Given the description of an element on the screen output the (x, y) to click on. 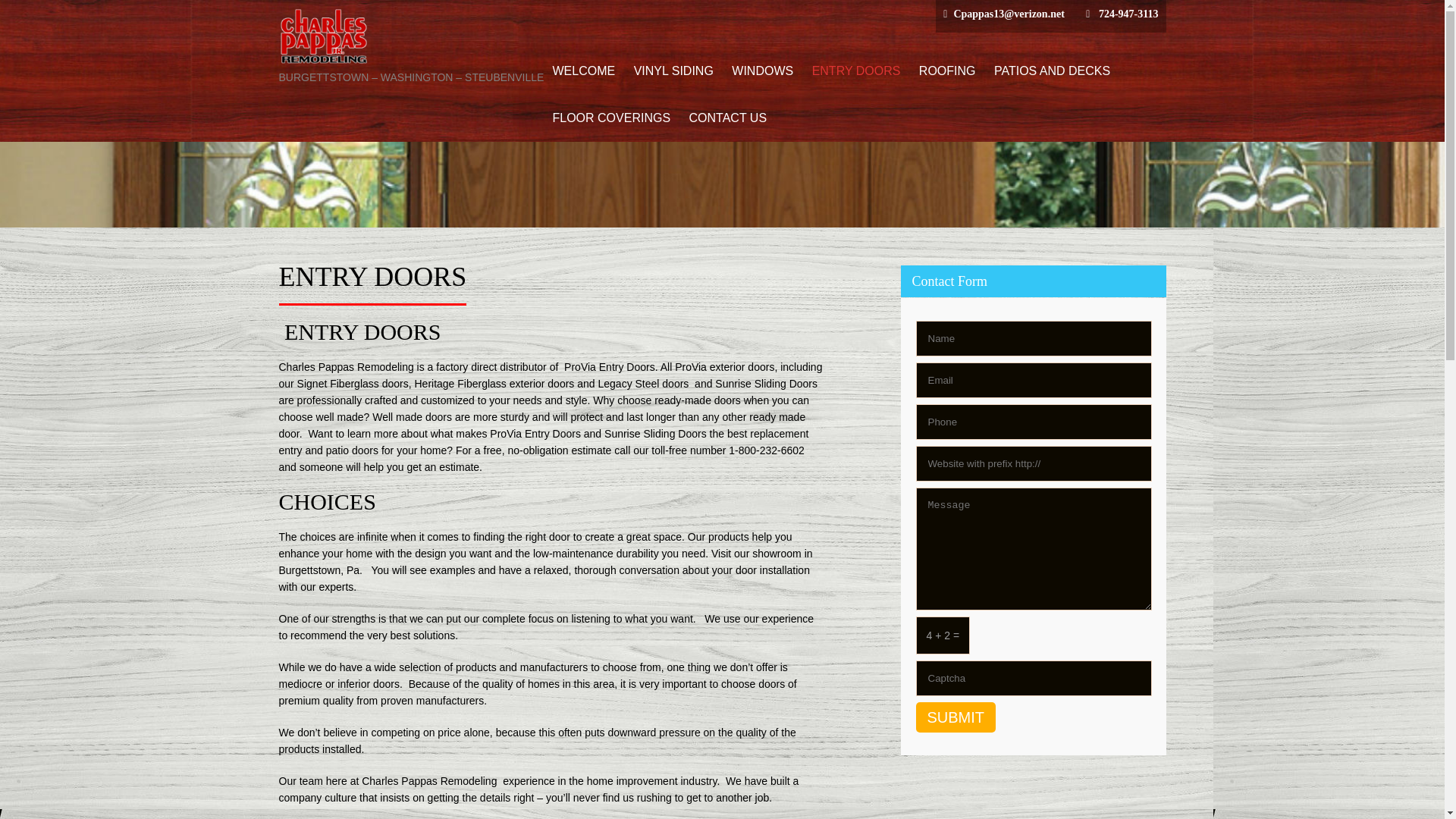
WELCOME (583, 71)
Submit (955, 716)
FLOOR COVERINGS (611, 118)
CONTACT US (727, 118)
724-947-3113 (1128, 13)
ENTRY DOORS (856, 71)
Submit (955, 716)
ROOFING (947, 71)
VINYL SIDING (673, 71)
Submit (955, 716)
WINDOWS (761, 71)
PATIOS AND DECKS (1052, 71)
